Given the description of an element on the screen output the (x, y) to click on. 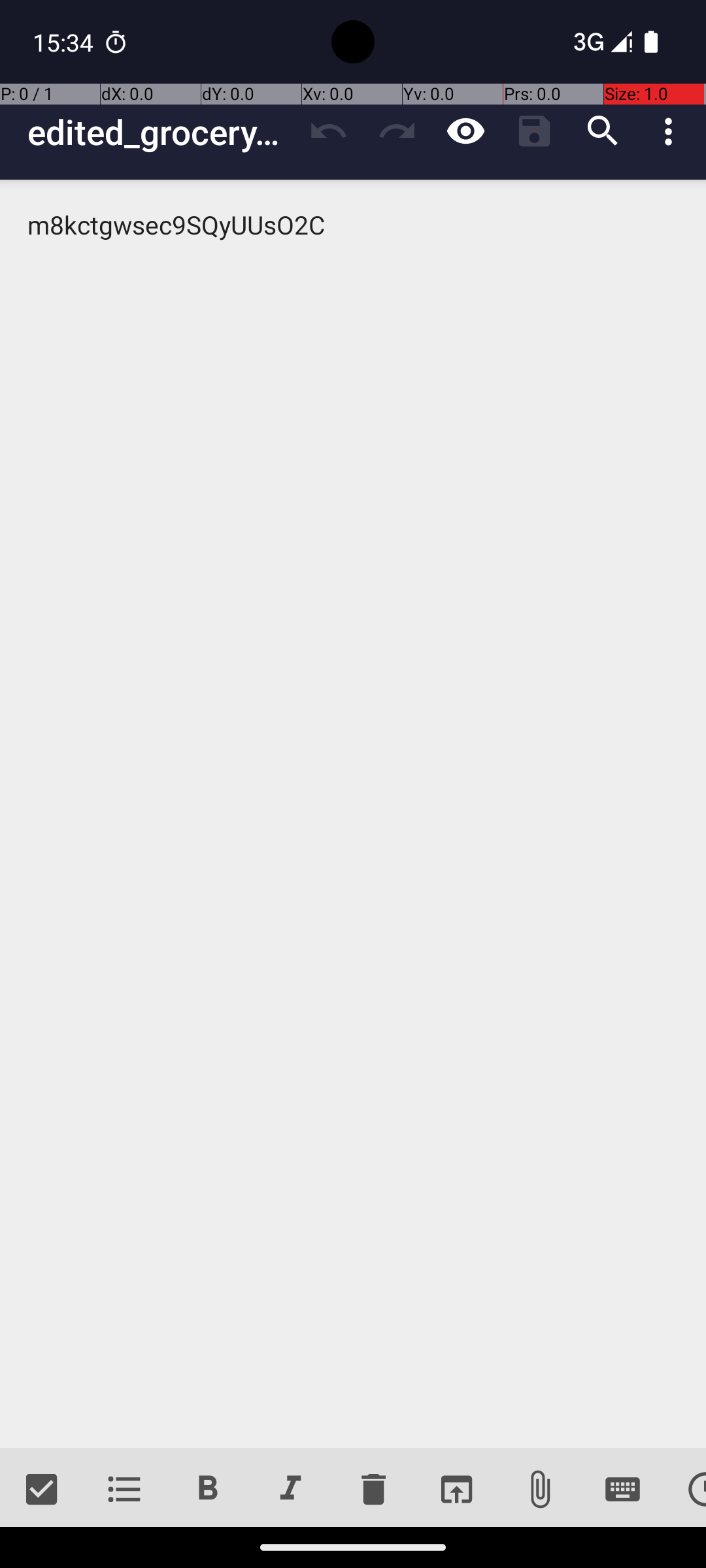
edited_grocery_list_weekly Element type: android.widget.TextView (160, 131)
m8kctgwsec9SQyUUsO2C
 Element type: android.widget.EditText (353, 813)
